Given the description of an element on the screen output the (x, y) to click on. 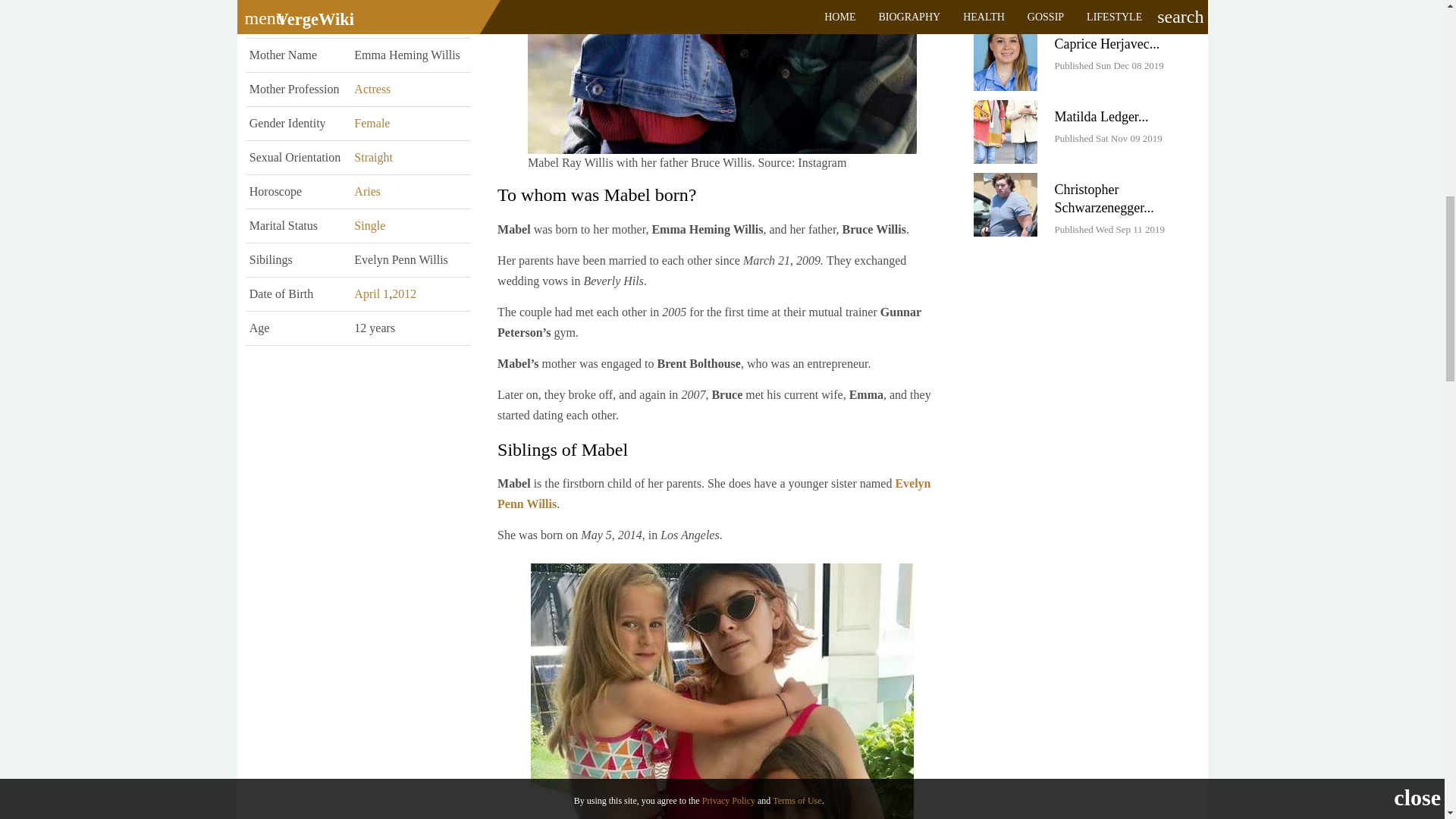
Single (369, 225)
Actress (371, 88)
Aries (366, 191)
April 1 (370, 293)
Actor (367, 20)
Female (371, 123)
2012 (403, 293)
Straight (373, 156)
